Given the description of an element on the screen output the (x, y) to click on. 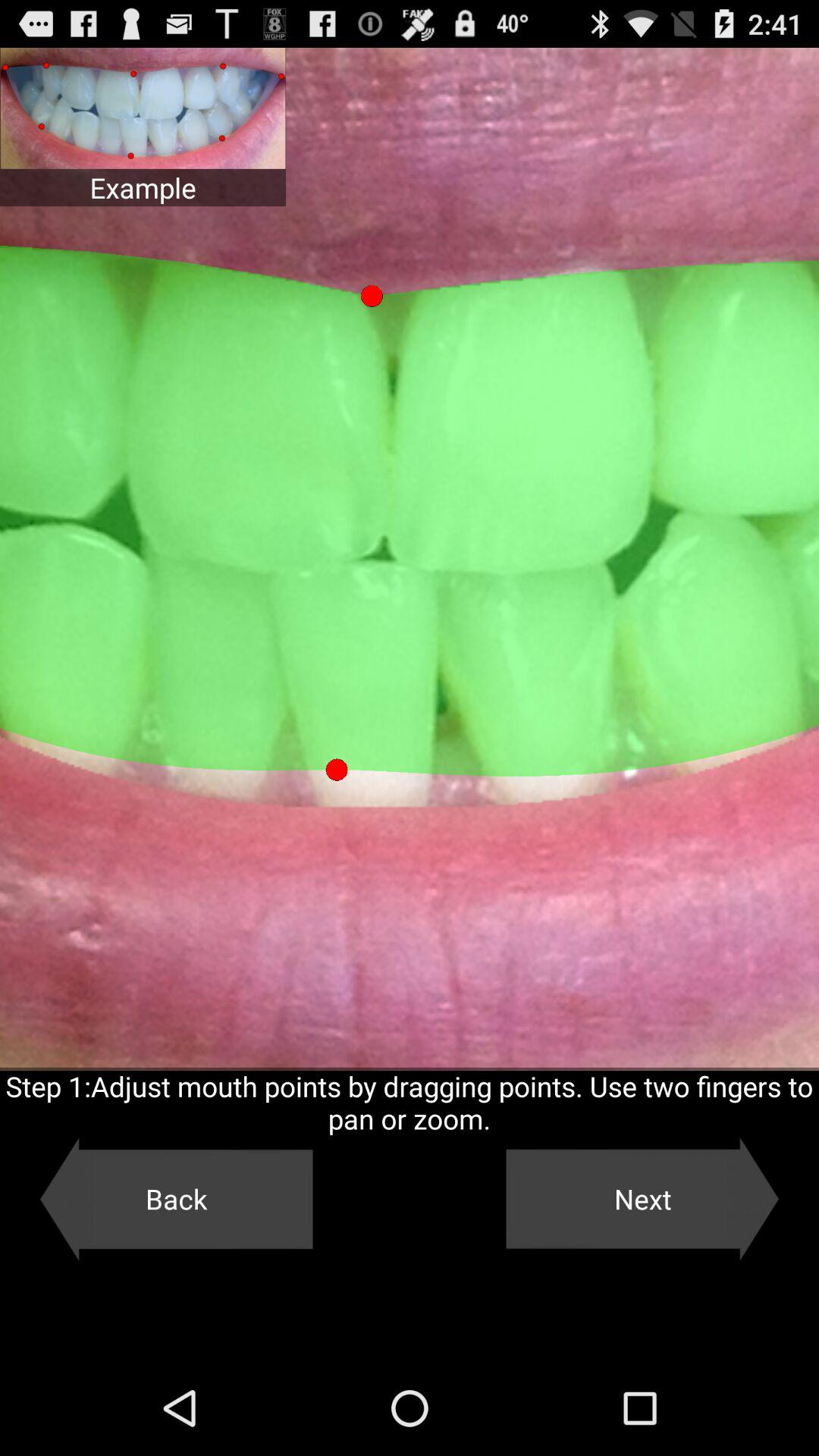
turn off item next to next item (175, 1198)
